Given the description of an element on the screen output the (x, y) to click on. 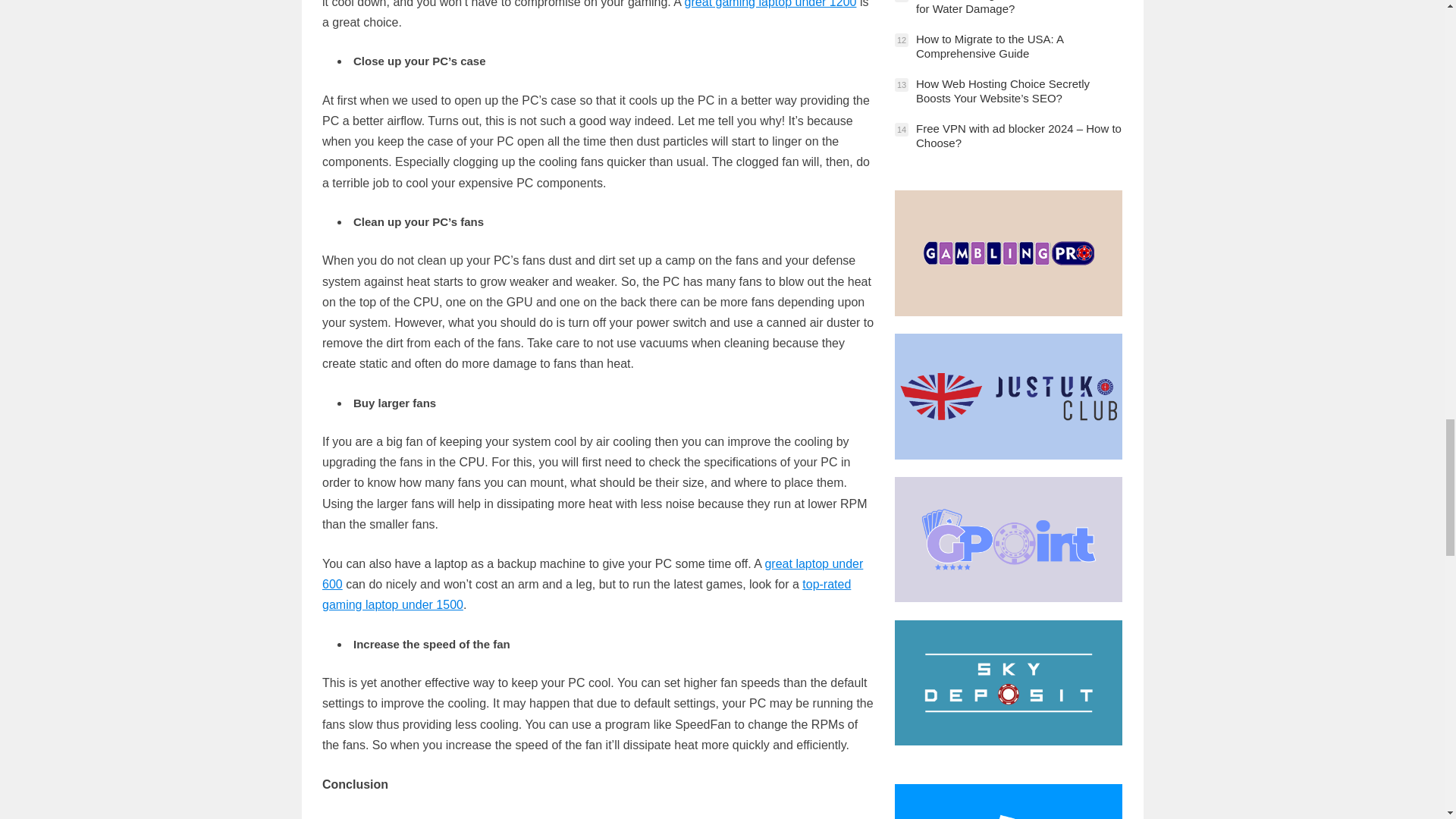
Non Gamstop Gamble (1008, 311)
Non Gamstop Slots (1008, 454)
Payment Methods at Non Gamstop casinos (1008, 597)
Best Online Casinos NZ (1008, 740)
